Given the description of an element on the screen output the (x, y) to click on. 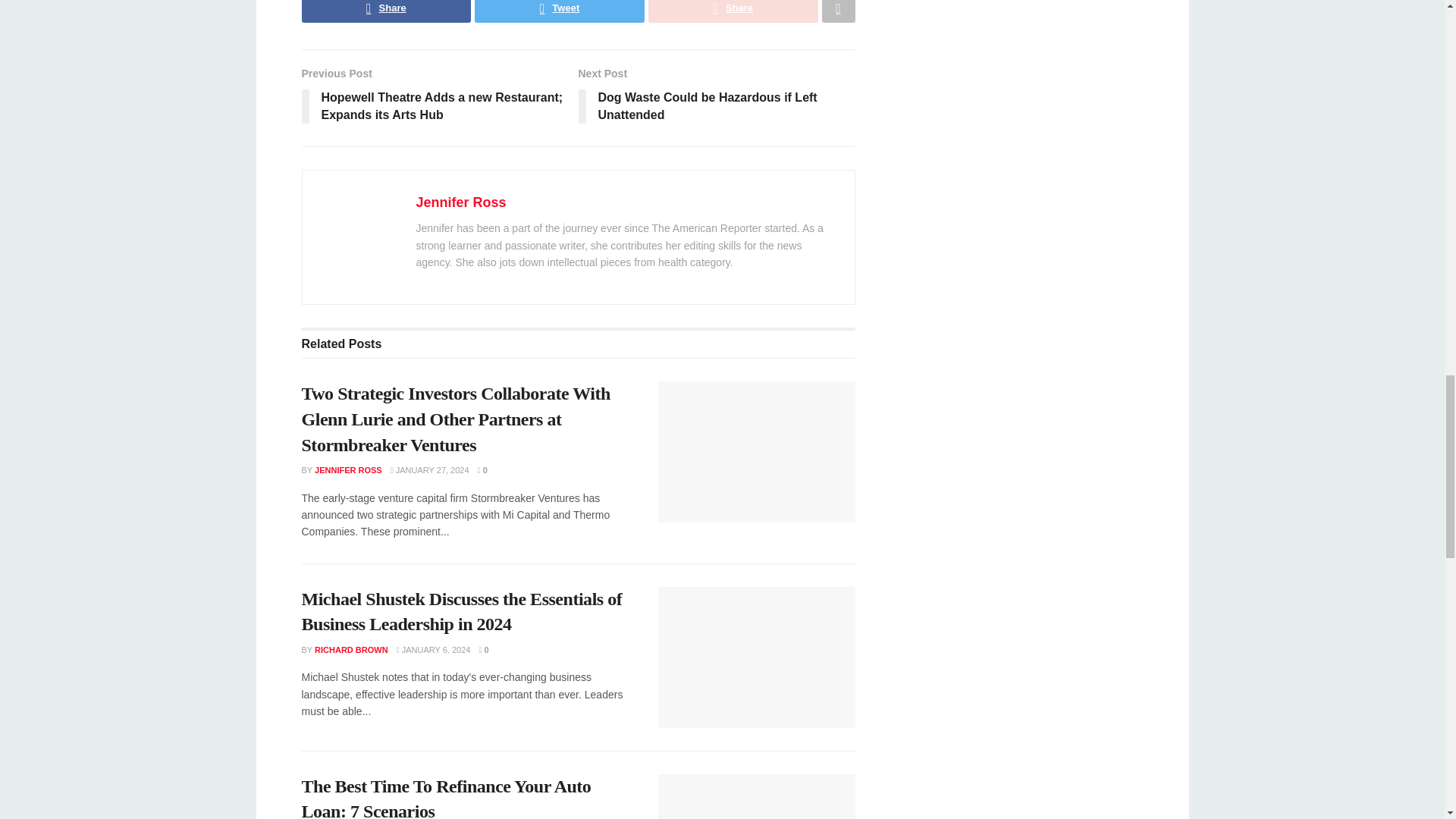
Tweet (559, 11)
Share (386, 11)
Share (732, 11)
